Given the description of an element on the screen output the (x, y) to click on. 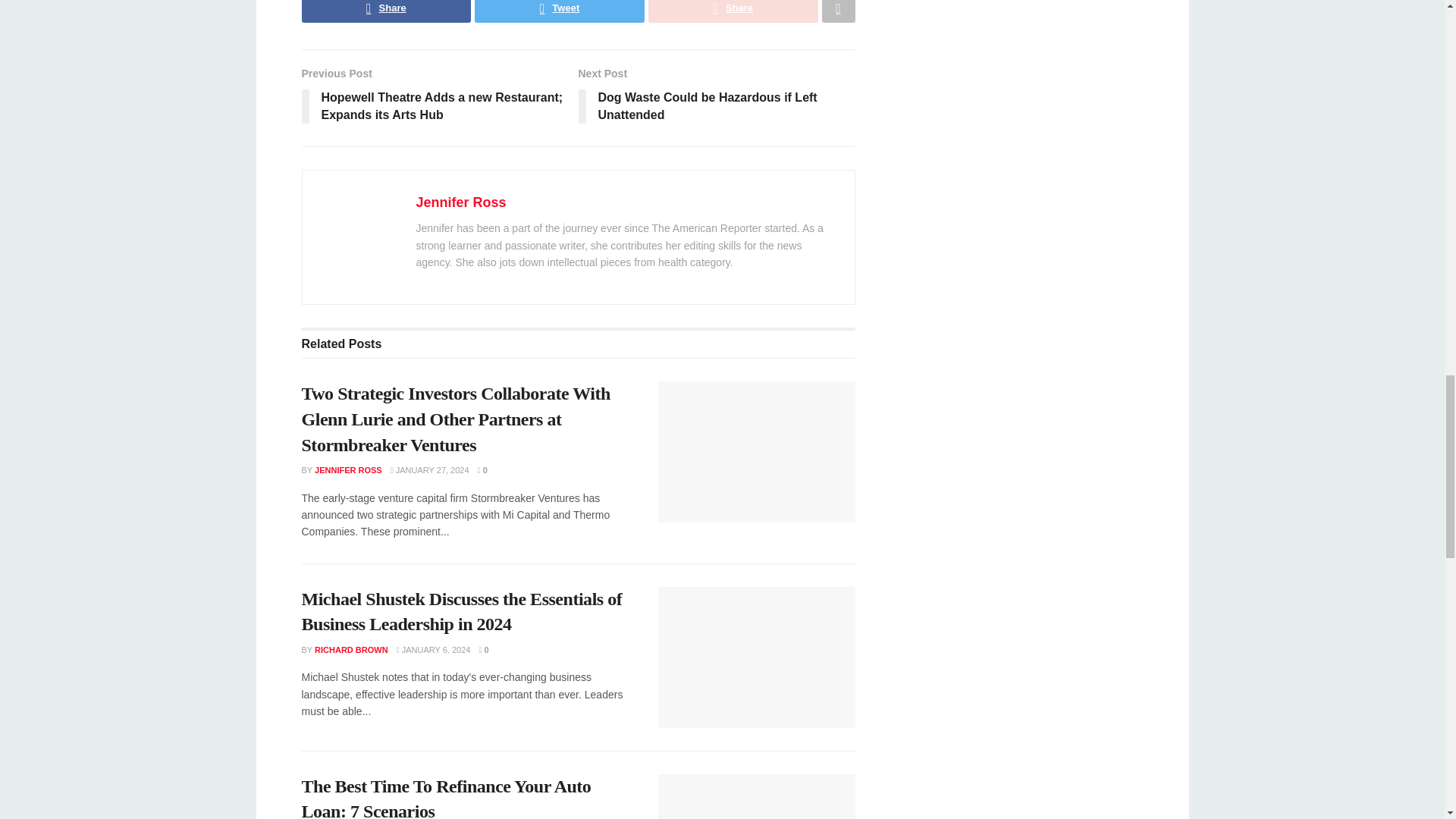
Tweet (559, 11)
Share (386, 11)
Share (732, 11)
